Given the description of an element on the screen output the (x, y) to click on. 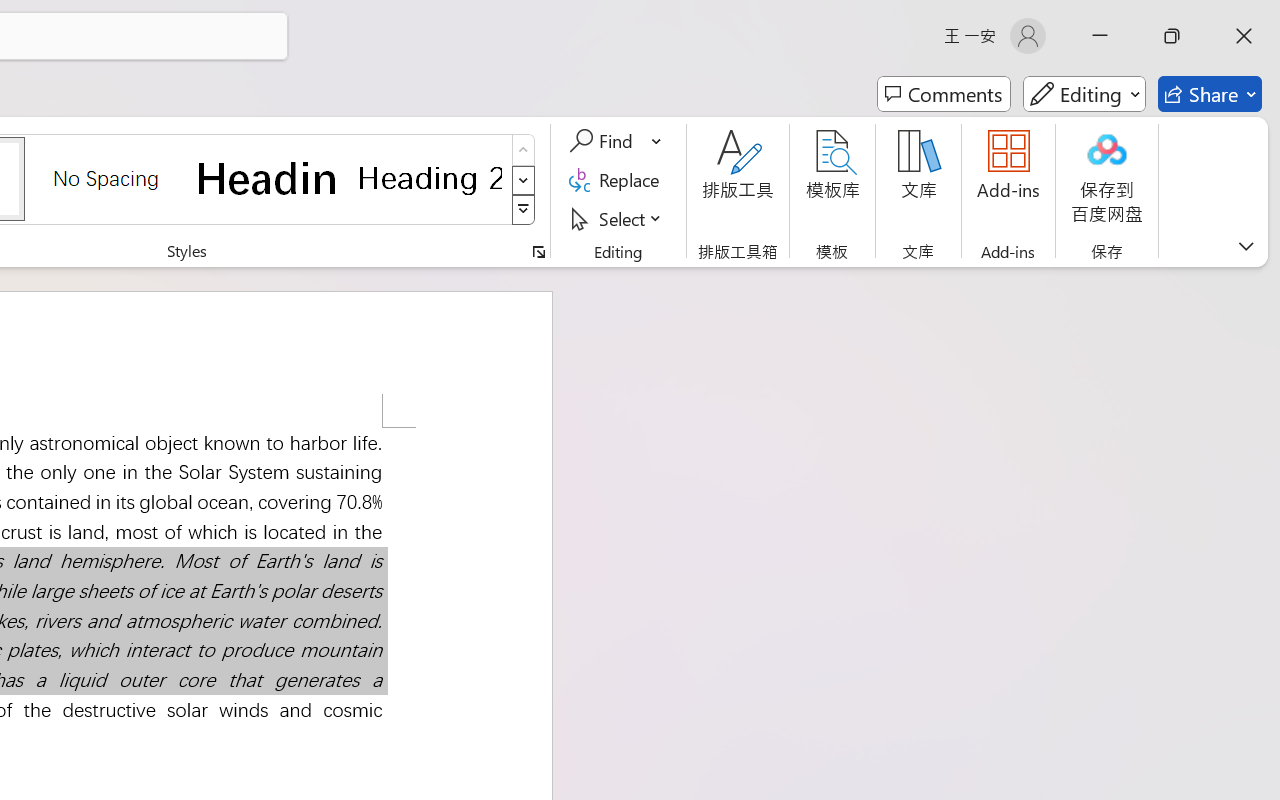
Replace... (617, 179)
Heading 2 (429, 178)
Row up (523, 150)
